Given the description of an element on the screen output the (x, y) to click on. 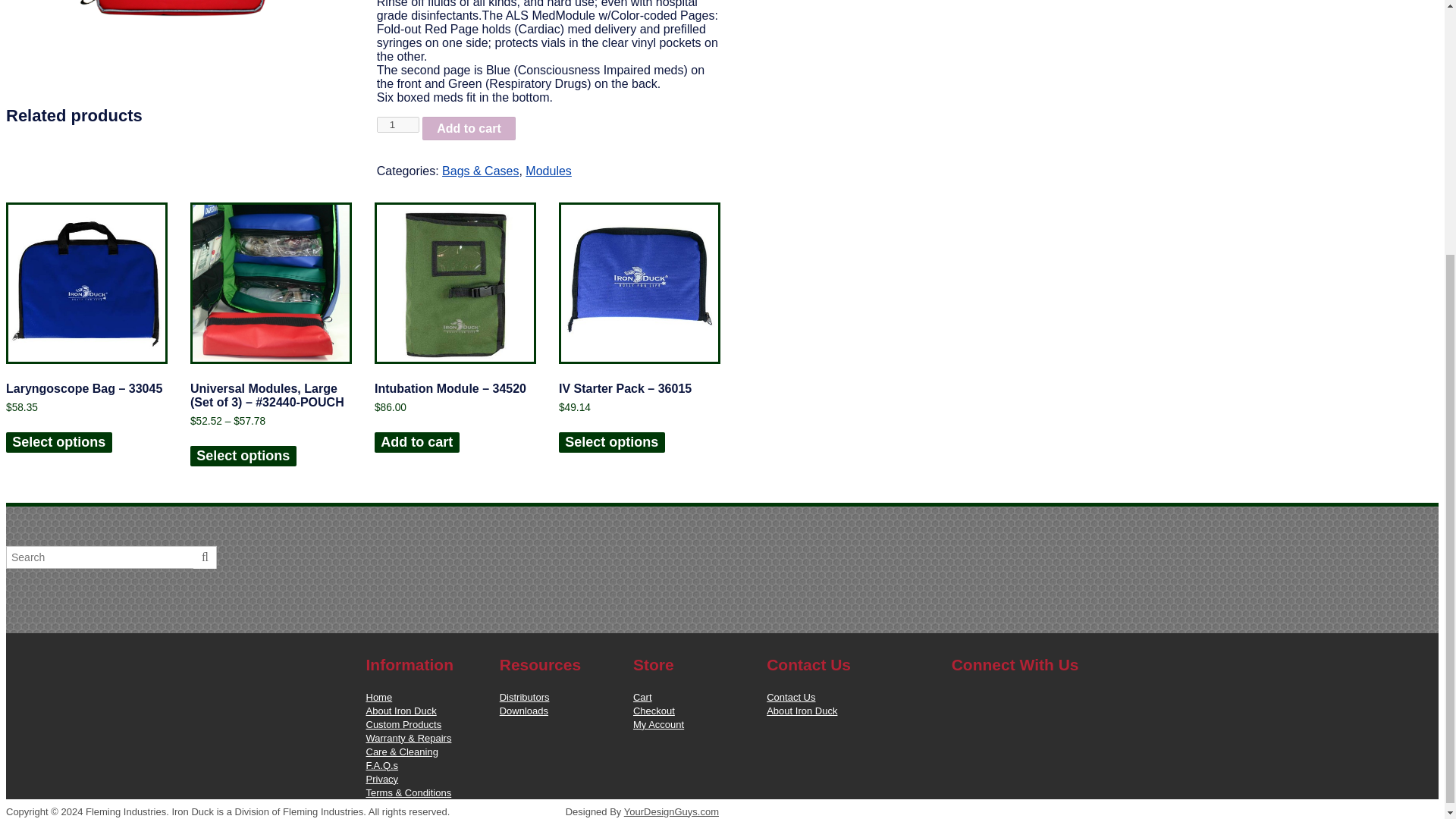
Select options (58, 442)
Modules (547, 170)
Select options (243, 455)
Add to cart (468, 128)
1 (398, 124)
